Given the description of an element on the screen output the (x, y) to click on. 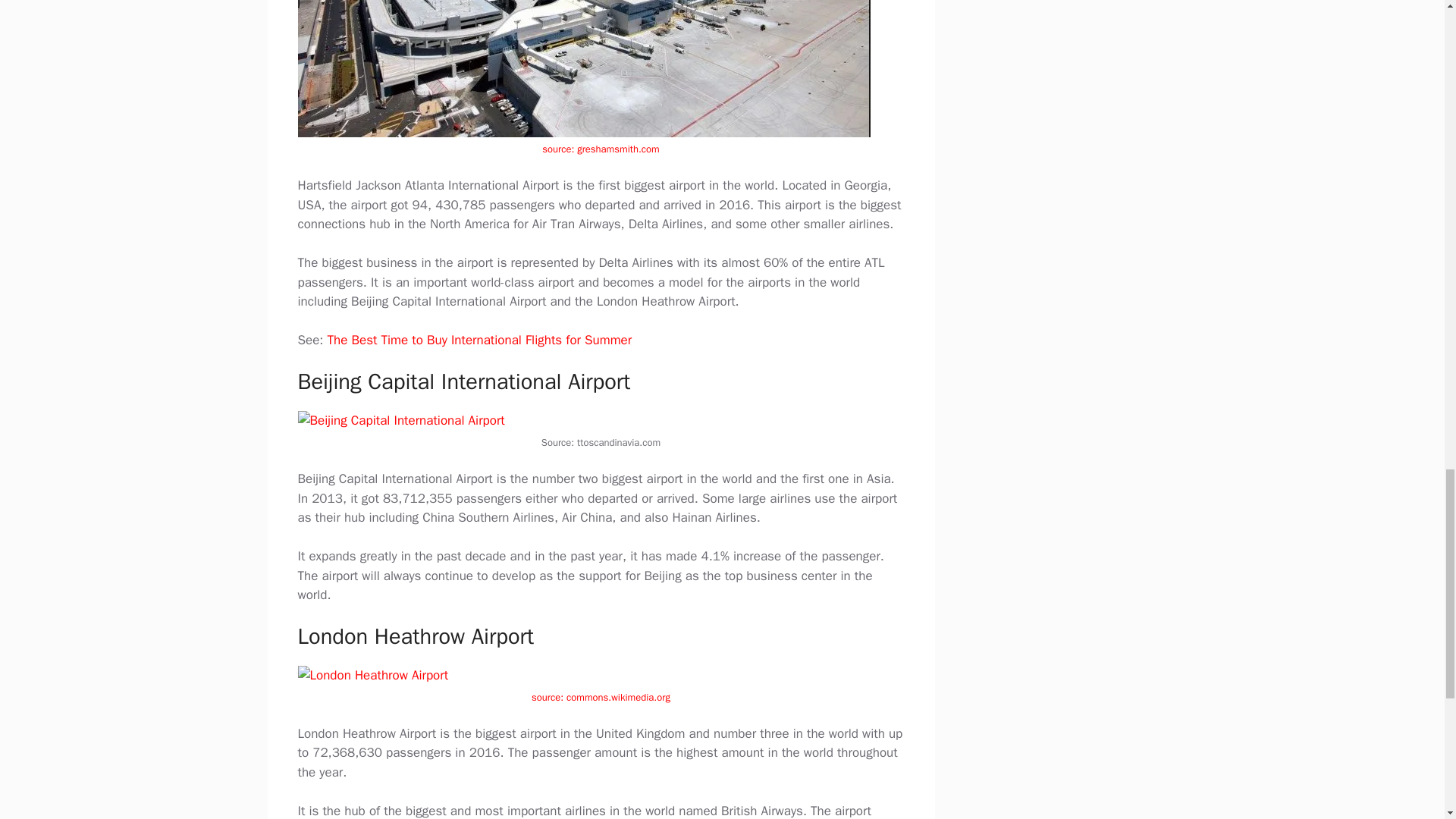
Three Largest and Best Airports in the World 2 (583, 68)
Three Largest and Best Airports in the World 4 (372, 675)
Three Largest and Best Airports in the World 3 (400, 420)
